Given the description of an element on the screen output the (x, y) to click on. 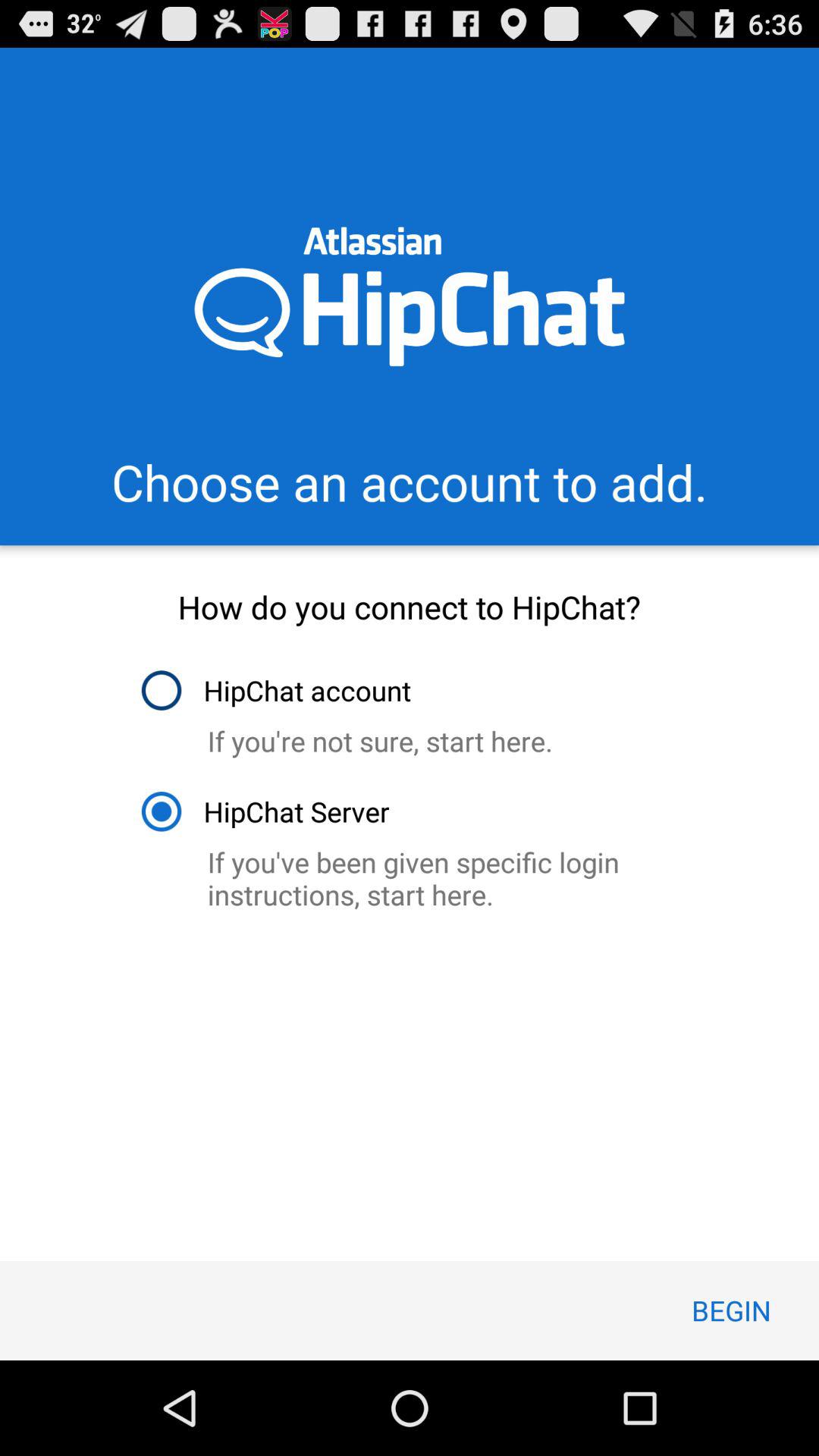
jump until hipchat account item (275, 690)
